Given the description of an element on the screen output the (x, y) to click on. 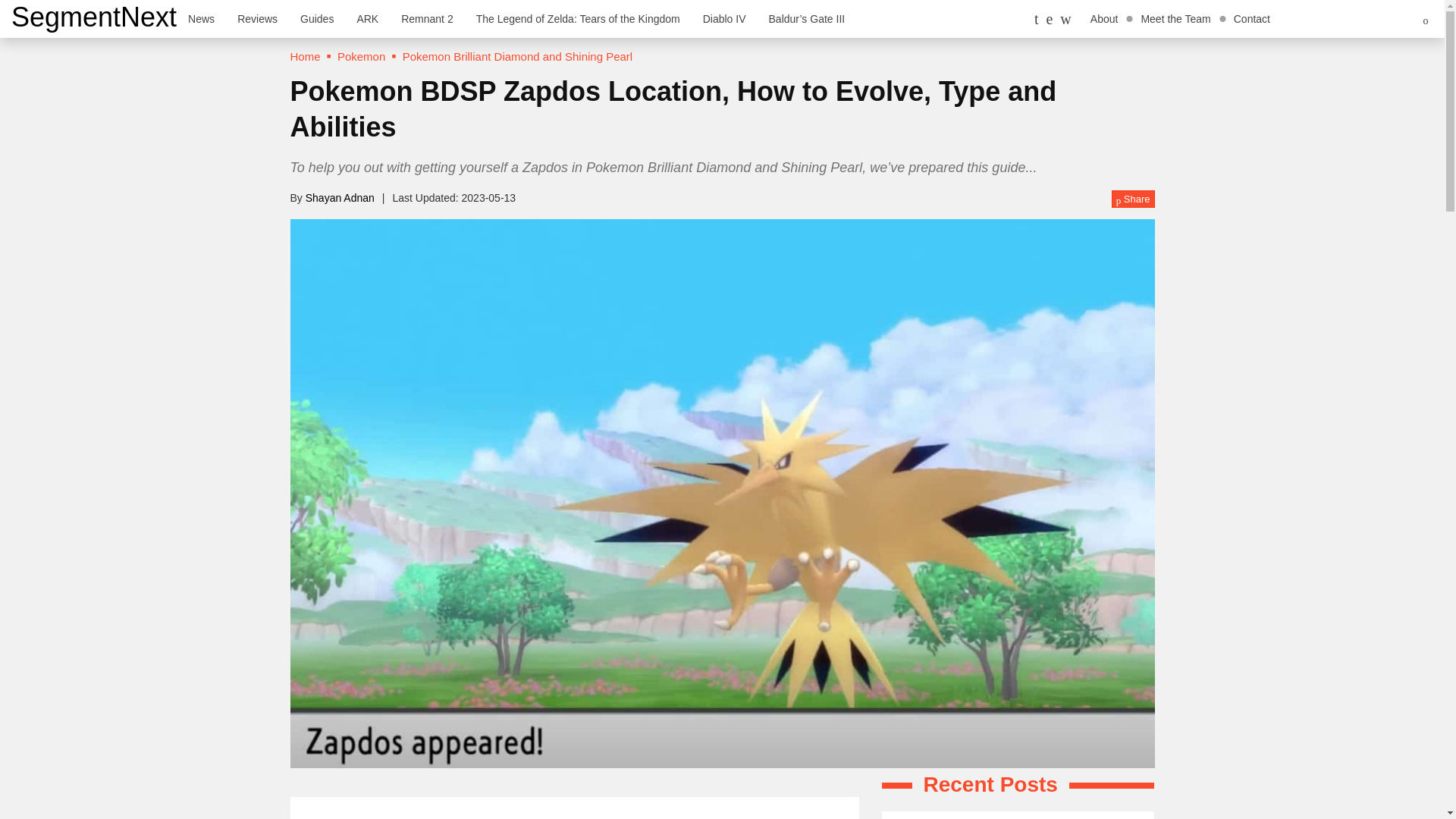
Diablo IV (724, 18)
Contact (1252, 18)
ARK (367, 18)
Diablo IV (724, 18)
Baldur's Gate III (807, 18)
The Legend of Zelda: Tears of the Kingdom (577, 18)
Reviews (256, 18)
About (1103, 18)
Remnant 2 (427, 18)
Guides (316, 18)
